Given the description of an element on the screen output the (x, y) to click on. 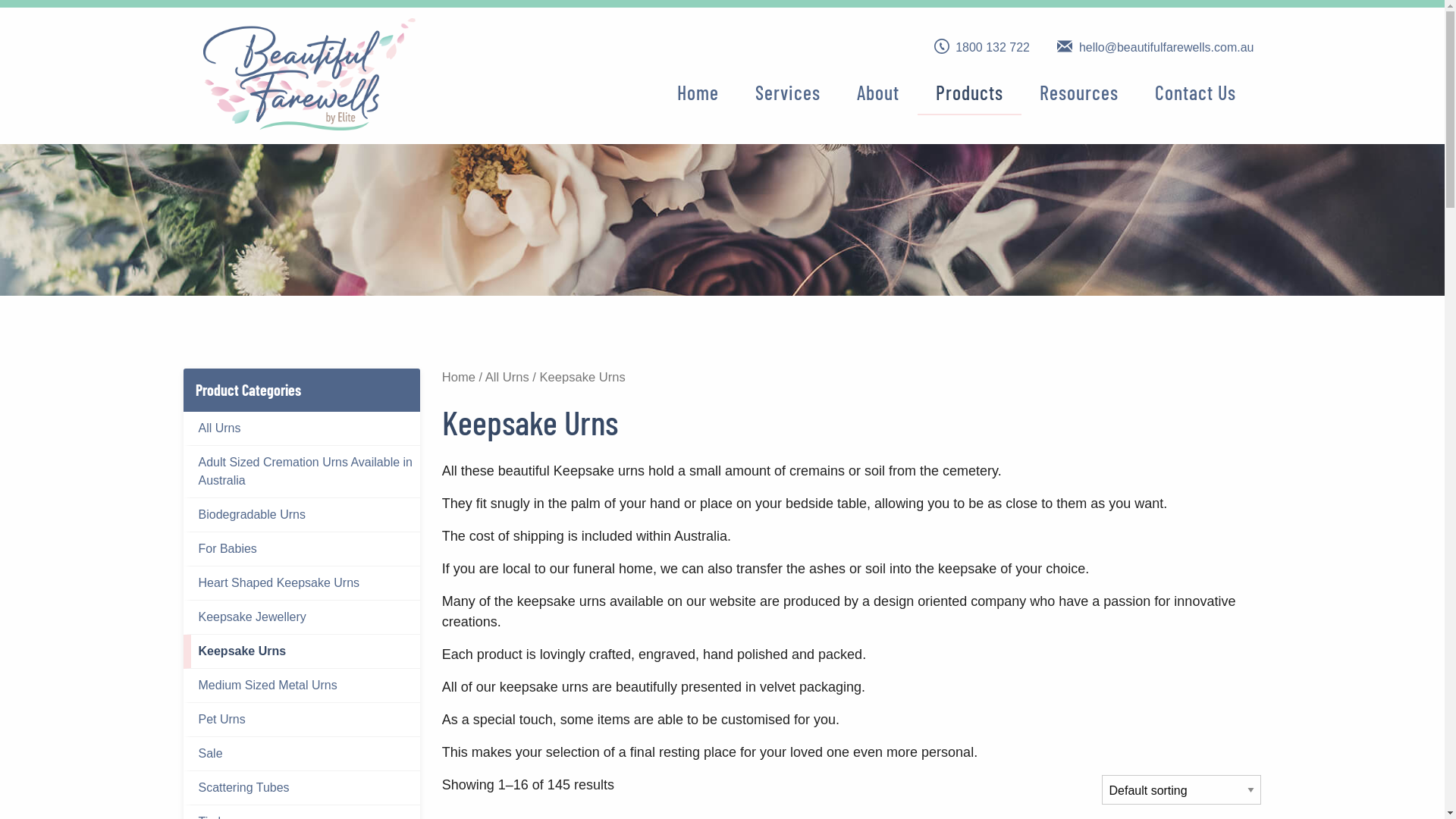
All Urns Element type: text (507, 377)
Contact Us Element type: text (1194, 90)
Scattering Tubes Element type: text (301, 788)
Sale Element type: text (301, 754)
Pet Urns Element type: text (301, 719)
Resources Element type: text (1077, 90)
Heart Shaped Keepsake Urns Element type: text (301, 583)
Keepsake Jewellery Element type: text (301, 617)
About Element type: text (877, 90)
For Babies Element type: text (301, 549)
Home Element type: text (697, 90)
Services Element type: text (787, 90)
Medium Sized Metal Urns Element type: text (301, 685)
Biodegradable Urns Element type: text (301, 515)
Products Element type: text (969, 91)
Home Element type: text (458, 377)
hello@beautifulfarewells.com.au Element type: text (1155, 46)
Adult Sized Cremation Urns Available in Australia Element type: text (301, 471)
1800 132 722 Element type: text (983, 46)
All Urns Element type: text (301, 428)
Keepsake Urns Element type: text (301, 651)
